Given the description of an element on the screen output the (x, y) to click on. 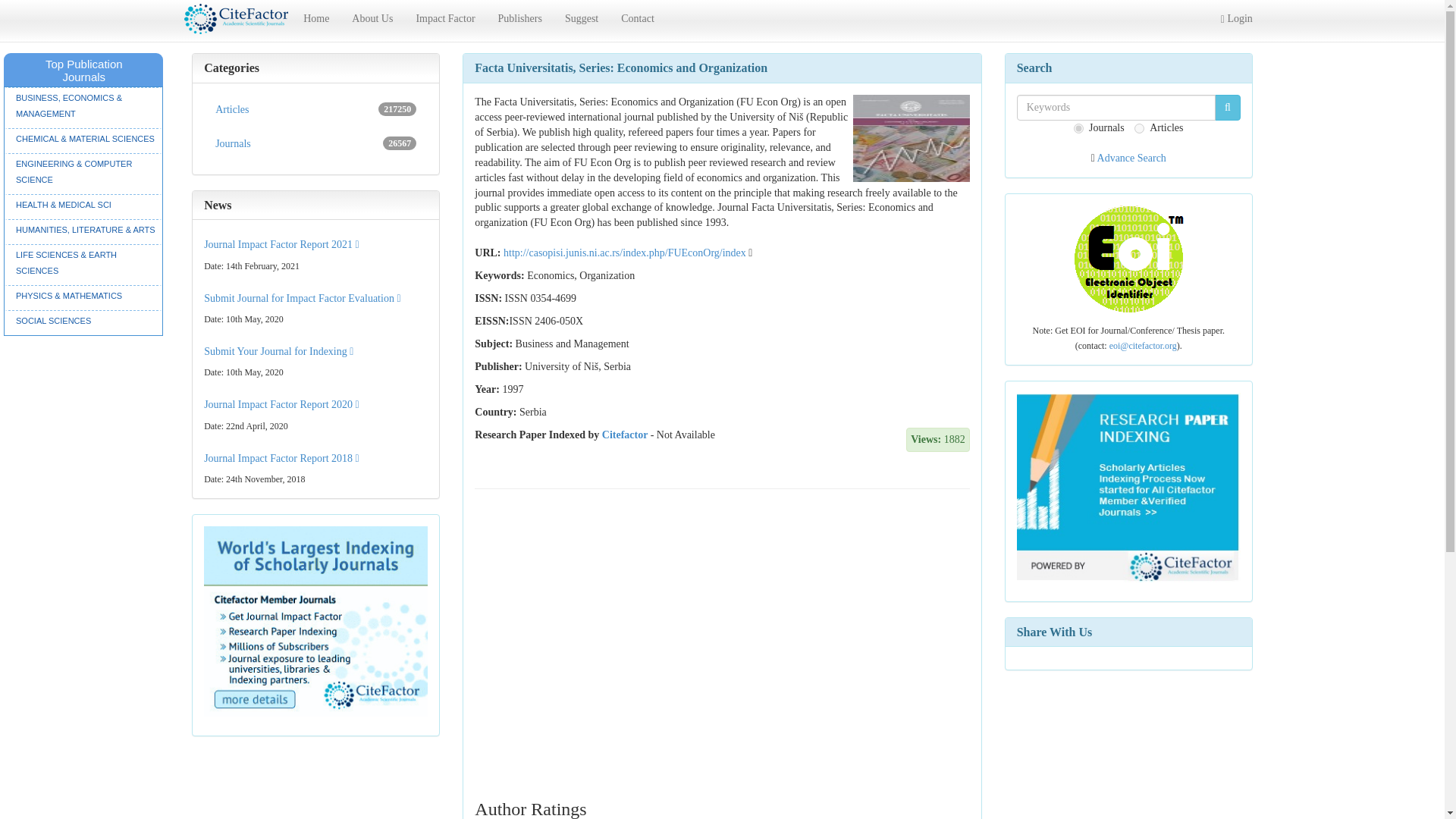
Advertisement (721, 566)
Social Sciences Journals (82, 320)
Impact Factor (445, 18)
Citefactor International Journal Indexing (315, 621)
Contact (637, 18)
Suggest (581, 18)
Home (316, 18)
Publishers (519, 18)
Citefactor Research paper indexing (1128, 487)
